Given the description of an element on the screen output the (x, y) to click on. 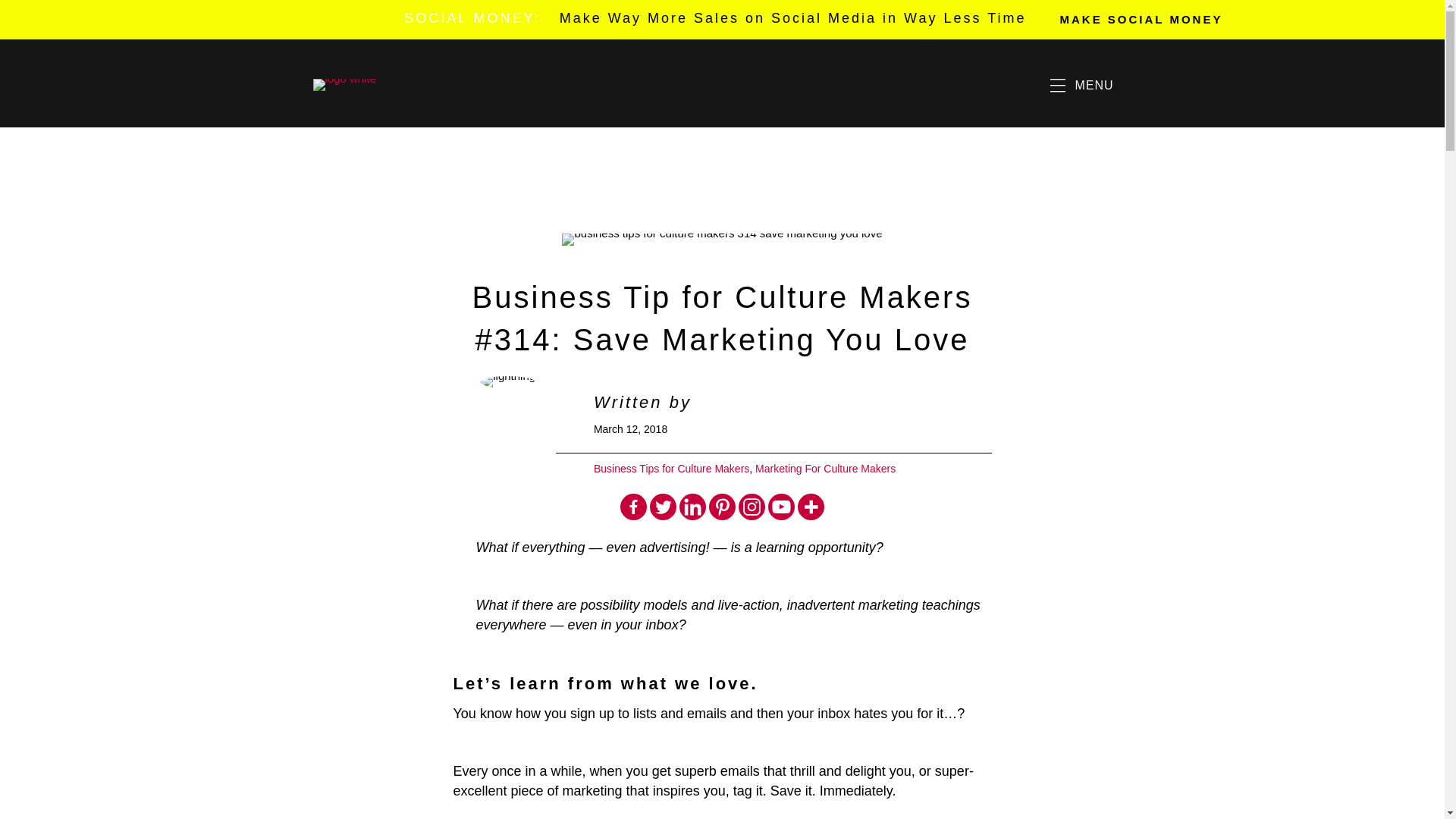
Linkedin (692, 506)
Marketing For Culture Makers (825, 468)
Facebook (633, 506)
logo white (344, 84)
MAKE SOCIAL MONEY (1140, 19)
Pinterest (722, 506)
business tips for culture makers 314 save marketing you love (722, 239)
Youtube (781, 506)
Business Tips for Culture Makers (671, 468)
lightning (507, 381)
